Given the description of an element on the screen output the (x, y) to click on. 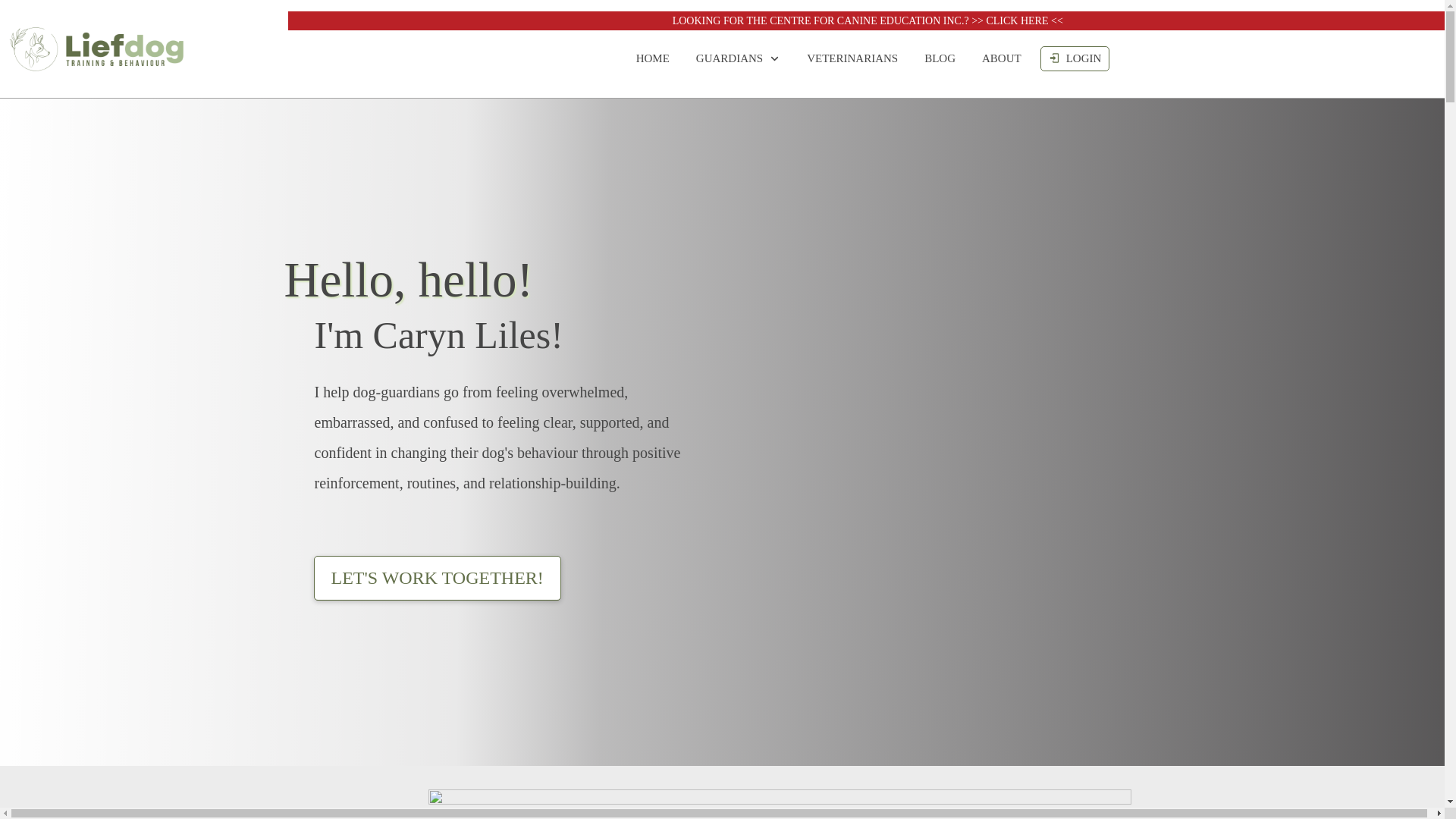
LOGIN (1075, 58)
LET'S WORK TOGETHER! (437, 578)
ABOUT (1001, 57)
BLOG (939, 57)
VETERINARIANS (852, 57)
GUARDIANS (737, 57)
HOME (652, 57)
LET'S WORK TOGETHER! (437, 578)
